Given the description of an element on the screen output the (x, y) to click on. 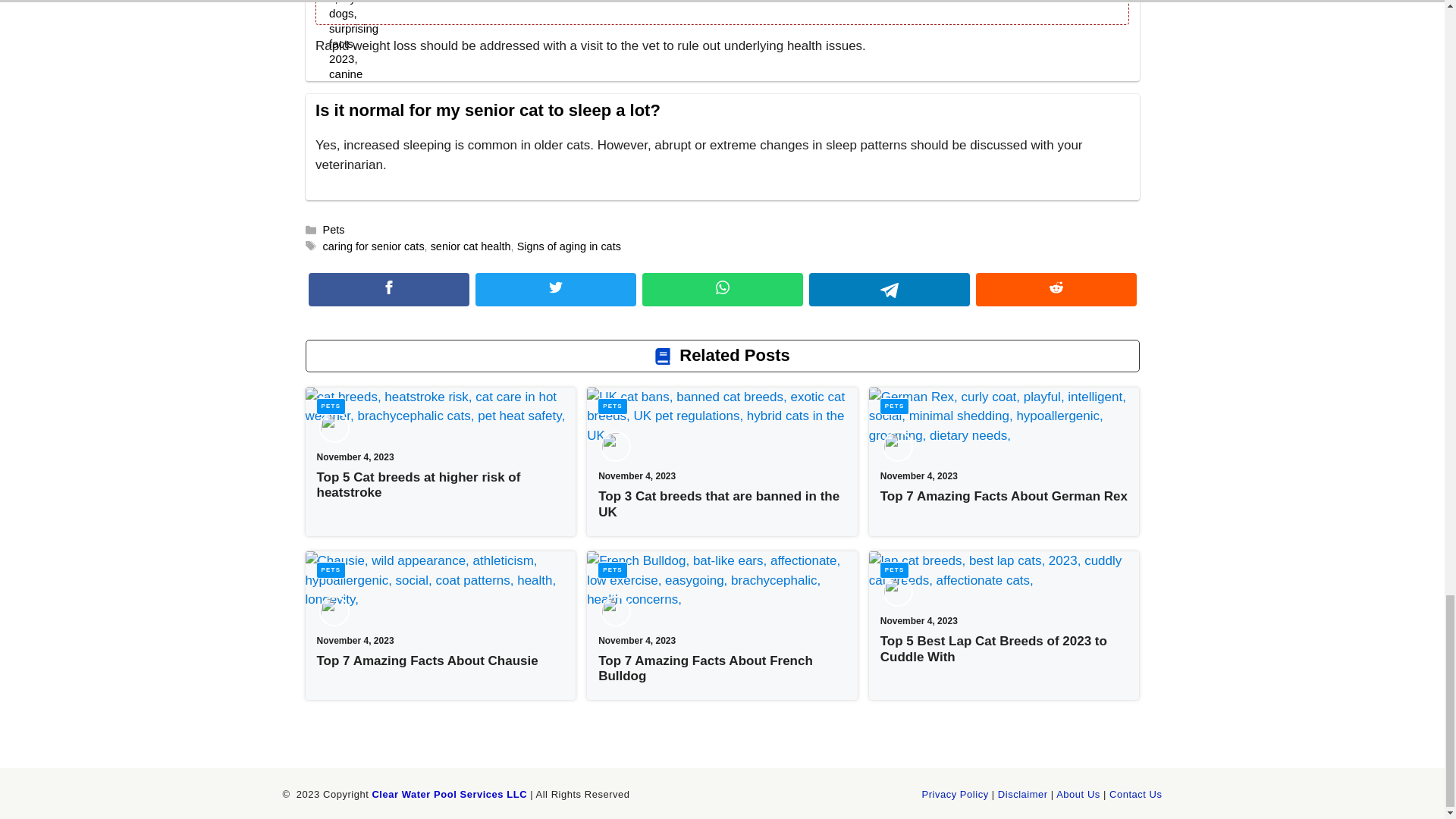
Top 5 Cat breeds at higher risk of heatstroke (419, 484)
Pets (334, 229)
PETS (330, 406)
senior cat health (470, 246)
PETS (330, 569)
Signs of aging in cats (568, 246)
Top 7 Amazing Facts About Chausie (427, 660)
Top 3 Cat breeds that are banned in the UK (719, 503)
caring for senior cats (374, 246)
PETS (894, 406)
PETS (611, 406)
Top 7 Amazing Facts About German Rex (1003, 495)
